Given the description of an element on the screen output the (x, y) to click on. 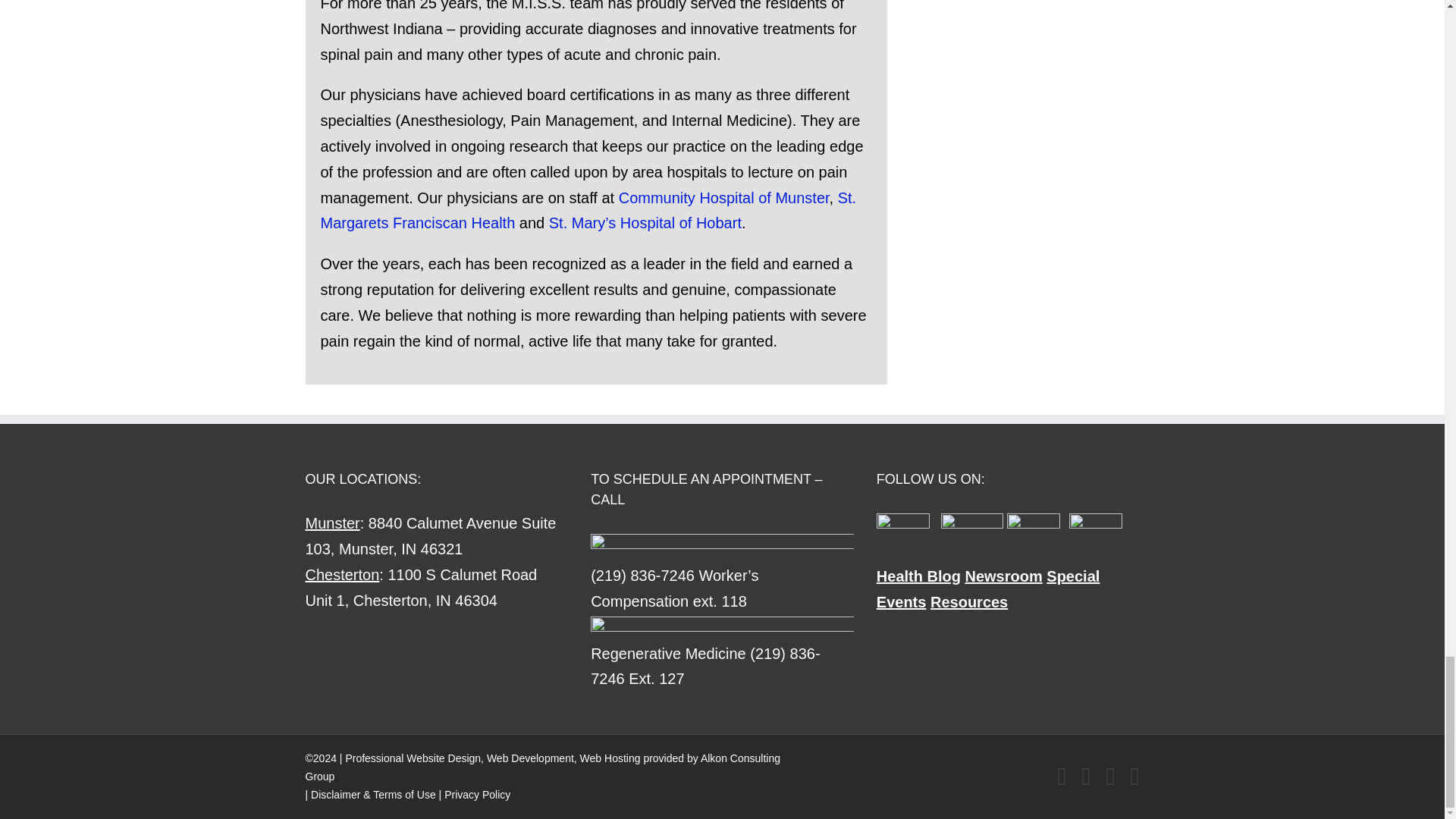
Twitter (1085, 776)
Instagram (1133, 776)
YouTube (1110, 776)
Facebook (1061, 776)
